Given the description of an element on the screen output the (x, y) to click on. 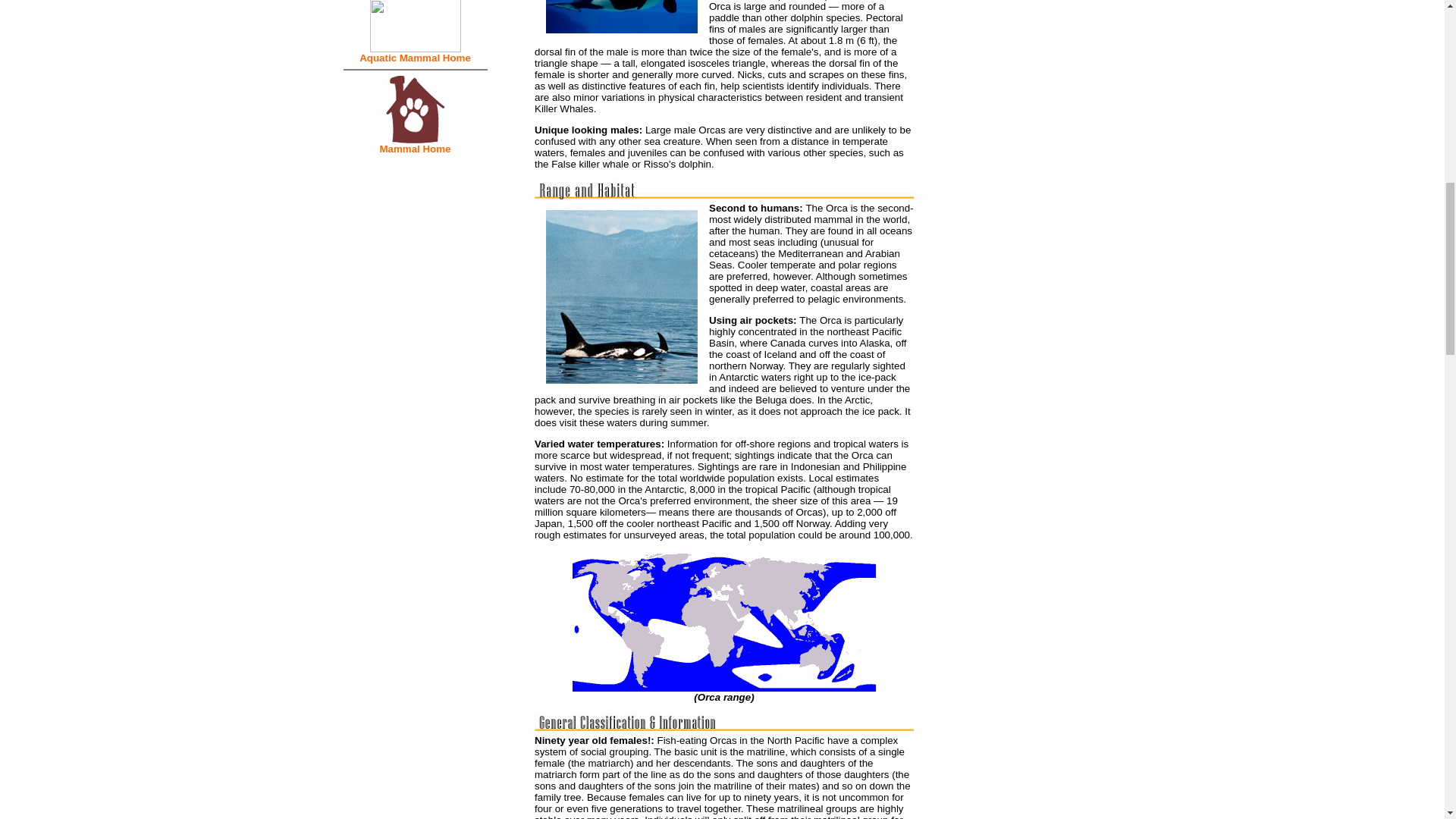
Walrus (415, 13)
Advertisement (1021, 58)
Mammal Home (413, 148)
Aquatic Mammal Home (414, 57)
